Given the description of an element on the screen output the (x, y) to click on. 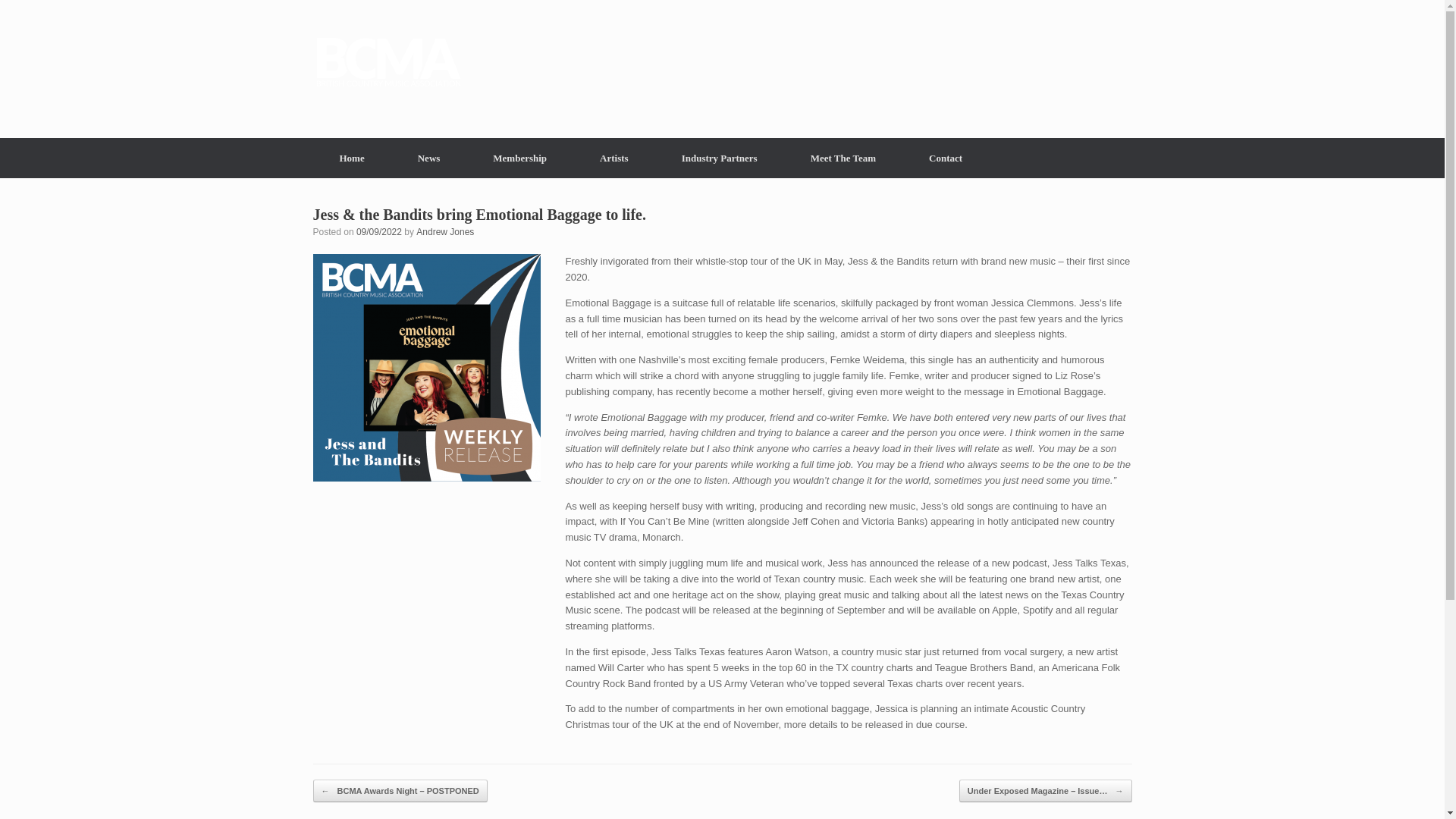
Industry Partners (719, 158)
View all posts by Andrew Jones (445, 231)
BCMA (388, 62)
Membership (519, 158)
Home (351, 158)
Andrew Jones (445, 231)
Artists (614, 158)
10:00 (378, 231)
Meet The Team (843, 158)
Contact (945, 158)
